Given the description of an element on the screen output the (x, y) to click on. 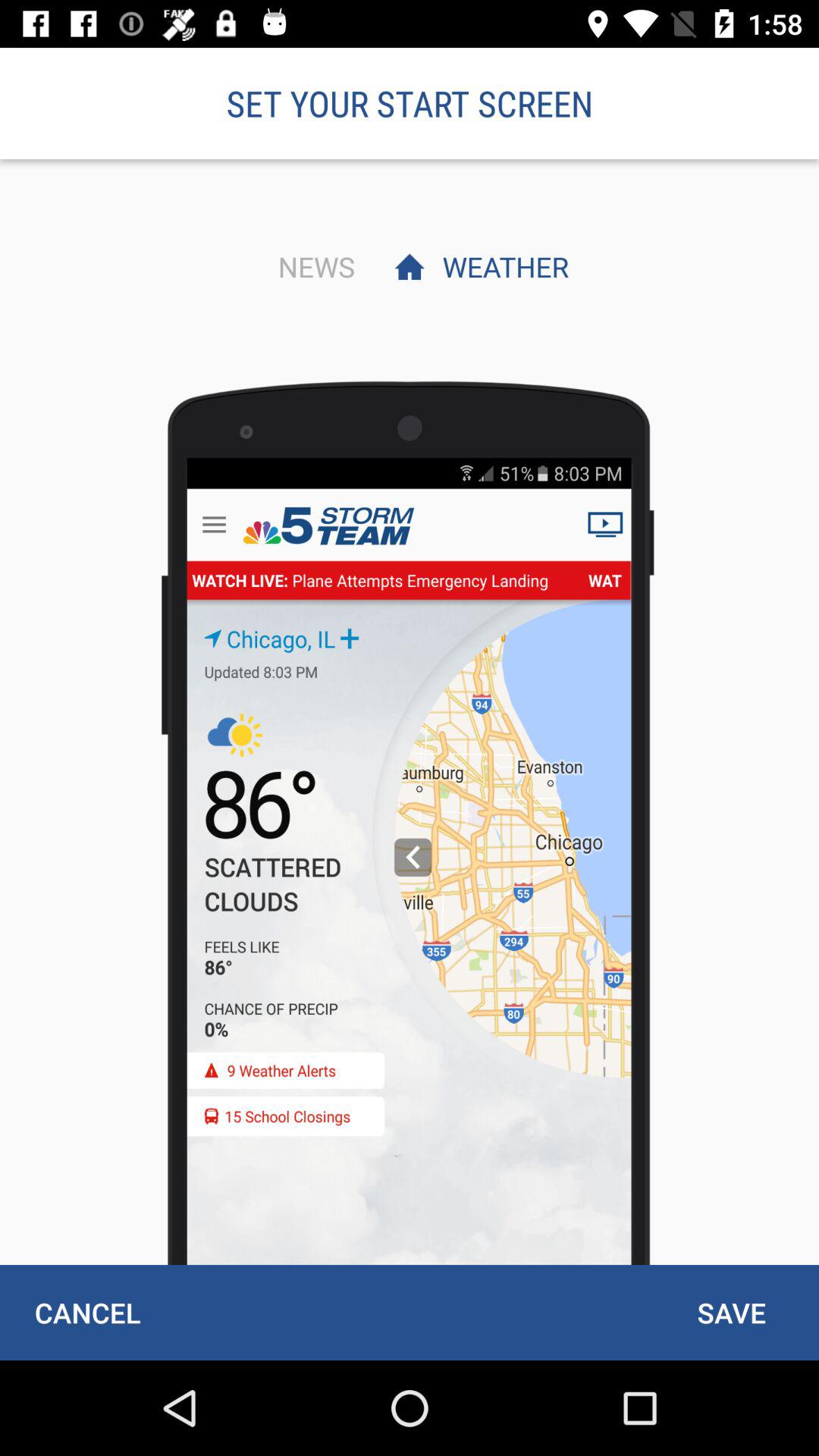
press the cancel at the bottom left corner (87, 1312)
